Given the description of an element on the screen output the (x, y) to click on. 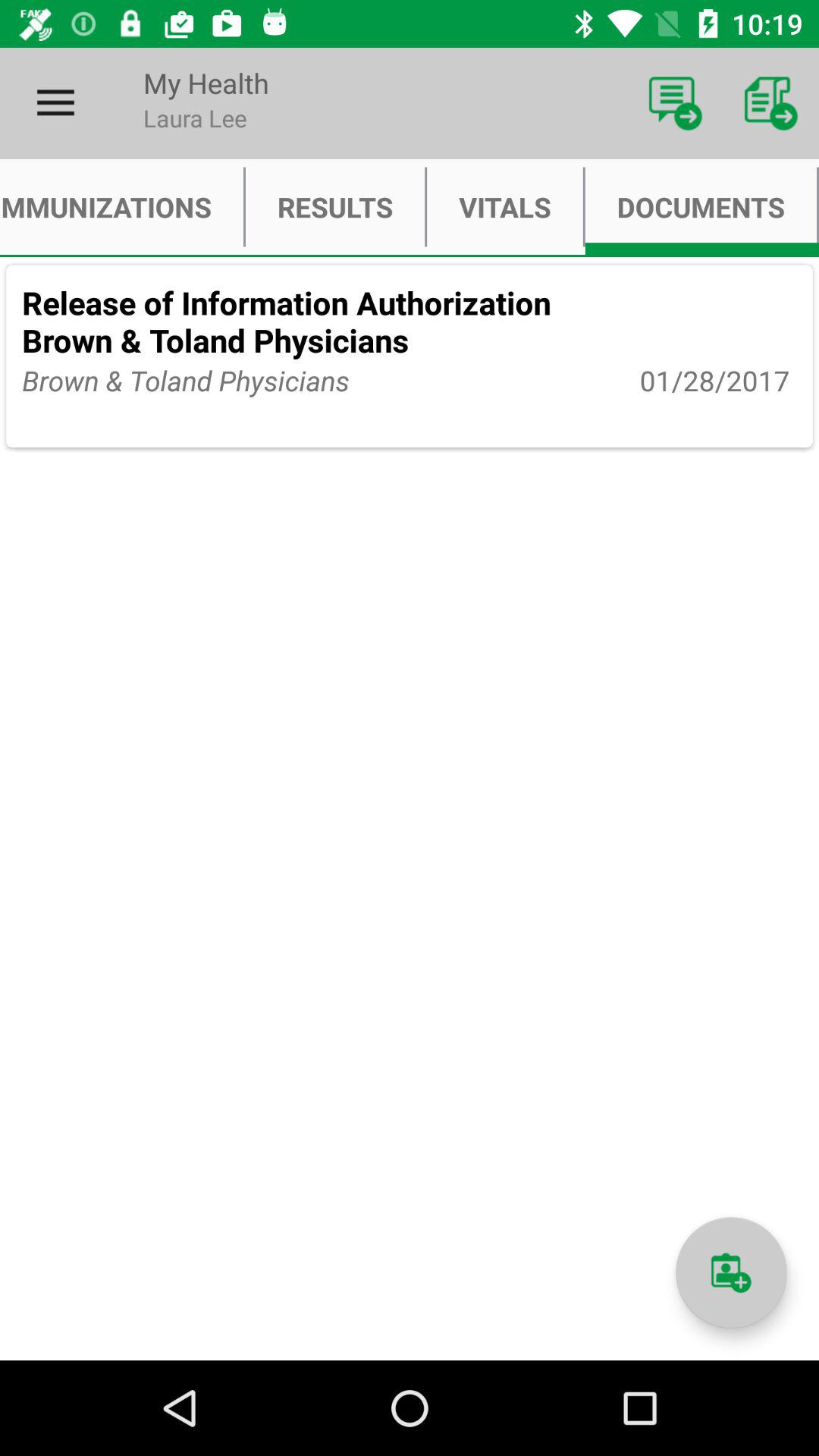
press the item next to the my health icon (675, 103)
